Given the description of an element on the screen output the (x, y) to click on. 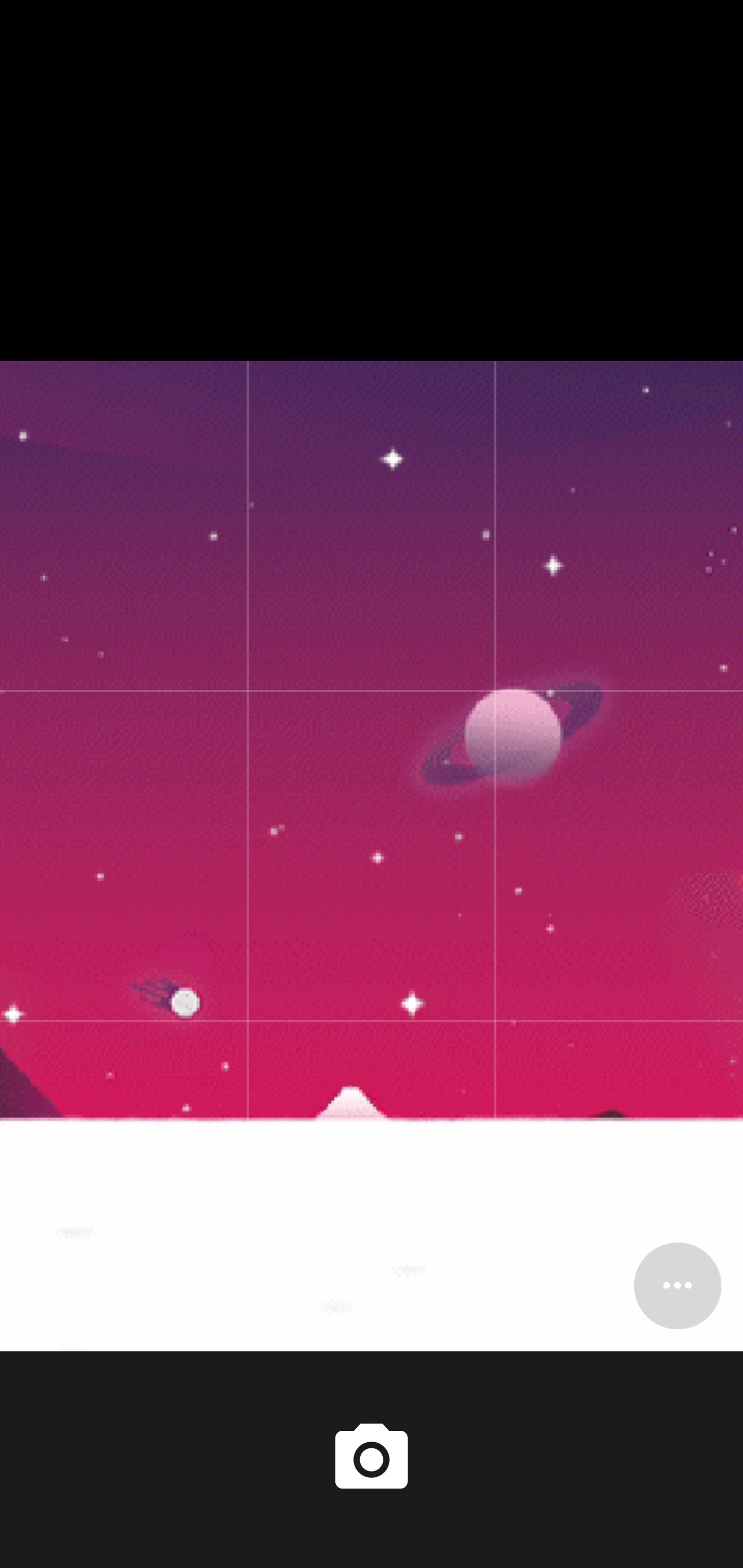
Options (677, 1285)
Shutter (371, 1459)
